Given the description of an element on the screen output the (x, y) to click on. 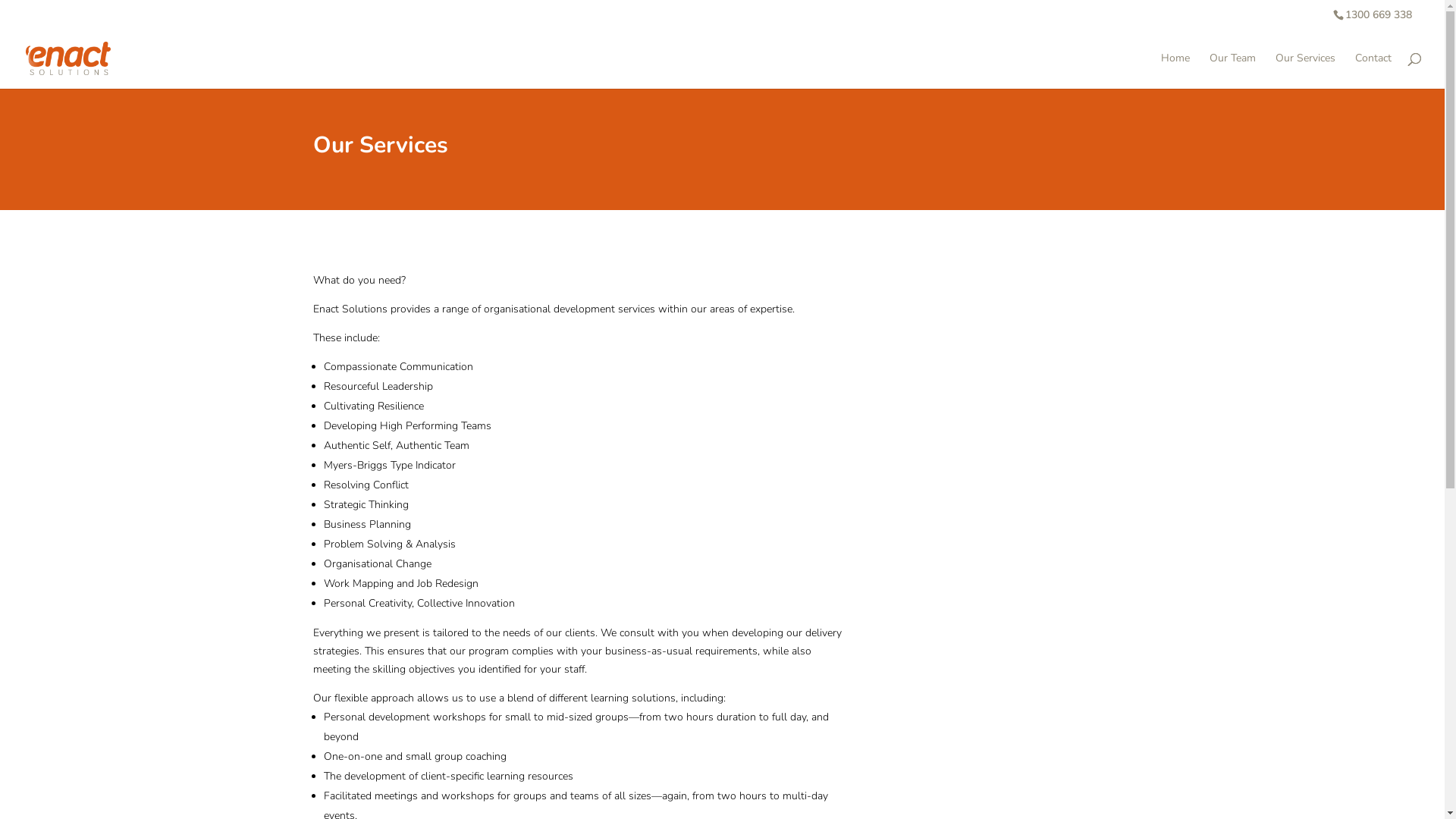
Our Services Element type: text (1305, 70)
Our Team Element type: text (1232, 70)
Home Element type: text (1175, 70)
Contact Element type: text (1373, 70)
